Given the description of an element on the screen output the (x, y) to click on. 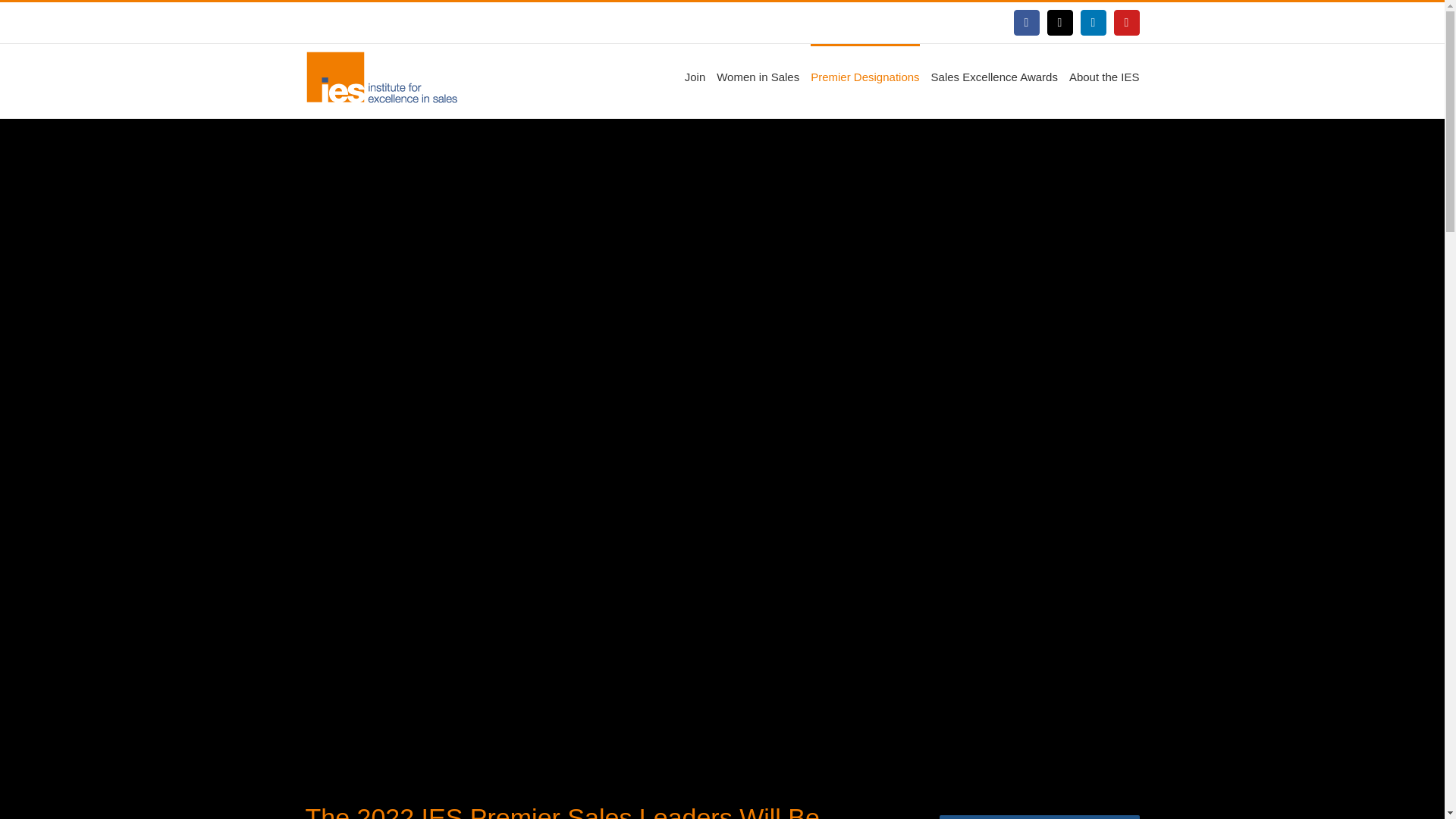
Premier Designations (864, 75)
X (1058, 22)
Facebook (1026, 22)
X (1058, 22)
Women in Sales (757, 75)
About the IES (1104, 75)
LinkedIn (1092, 22)
Facebook (1026, 22)
Sales Excellence Awards (994, 75)
YouTube (1125, 22)
